Given the description of an element on the screen output the (x, y) to click on. 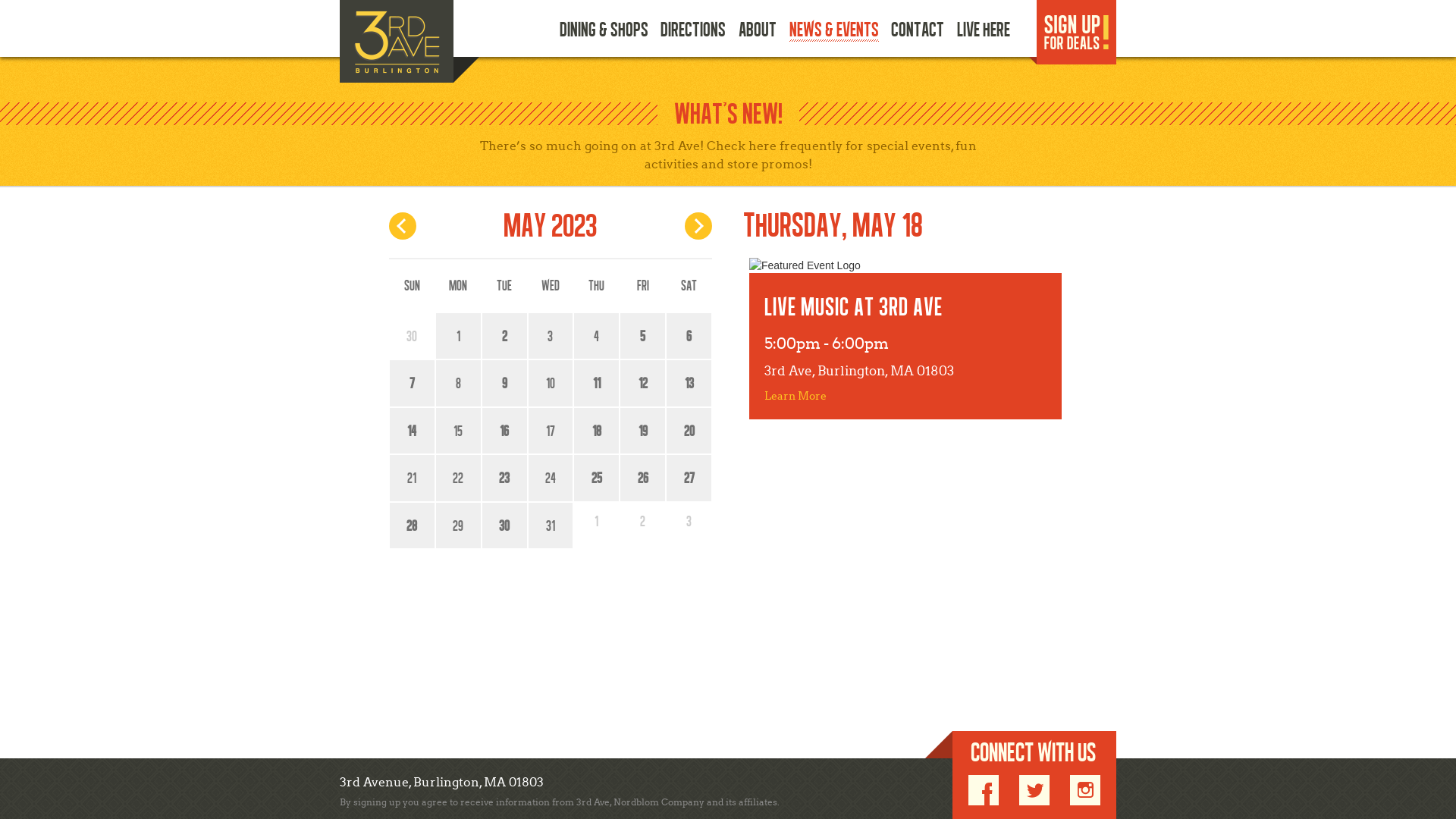
24 Element type: text (550, 477)
3 Element type: text (550, 335)
LIVE HERE Element type: text (983, 31)
17 Element type: text (550, 430)
26 Element type: text (642, 477)
18 Element type: text (596, 430)
27 Element type: text (688, 477)
31 Element type: text (550, 525)
19 Element type: text (642, 430)
15 Element type: text (458, 430)
21 Element type: text (411, 477)
22 Element type: text (458, 477)
30 Element type: text (504, 525)
25 Element type: text (596, 477)
29 Element type: text (458, 525)
10 Element type: text (550, 382)
8 Element type: text (458, 382)
14 Element type: text (411, 430)
CONTACT Element type: text (917, 31)
NEWS & EVENTS Element type: text (833, 31)
1 Element type: text (458, 335)
11 Element type: text (596, 382)
16 Element type: text (504, 430)
5 Element type: text (642, 335)
9 Element type: text (504, 382)
DIRECTIONS Element type: text (692, 31)
DINING & SHOPS Element type: text (603, 31)
23 Element type: text (504, 477)
12 Element type: text (642, 382)
28 Element type: text (411, 525)
7 Element type: text (411, 382)
4 Element type: text (596, 335)
2 Element type: text (504, 335)
Learn More Element type: text (795, 395)
13 Element type: text (688, 382)
20 Element type: text (688, 430)
6 Element type: text (688, 335)
ABOUT Element type: text (757, 31)
